Given the description of an element on the screen output the (x, y) to click on. 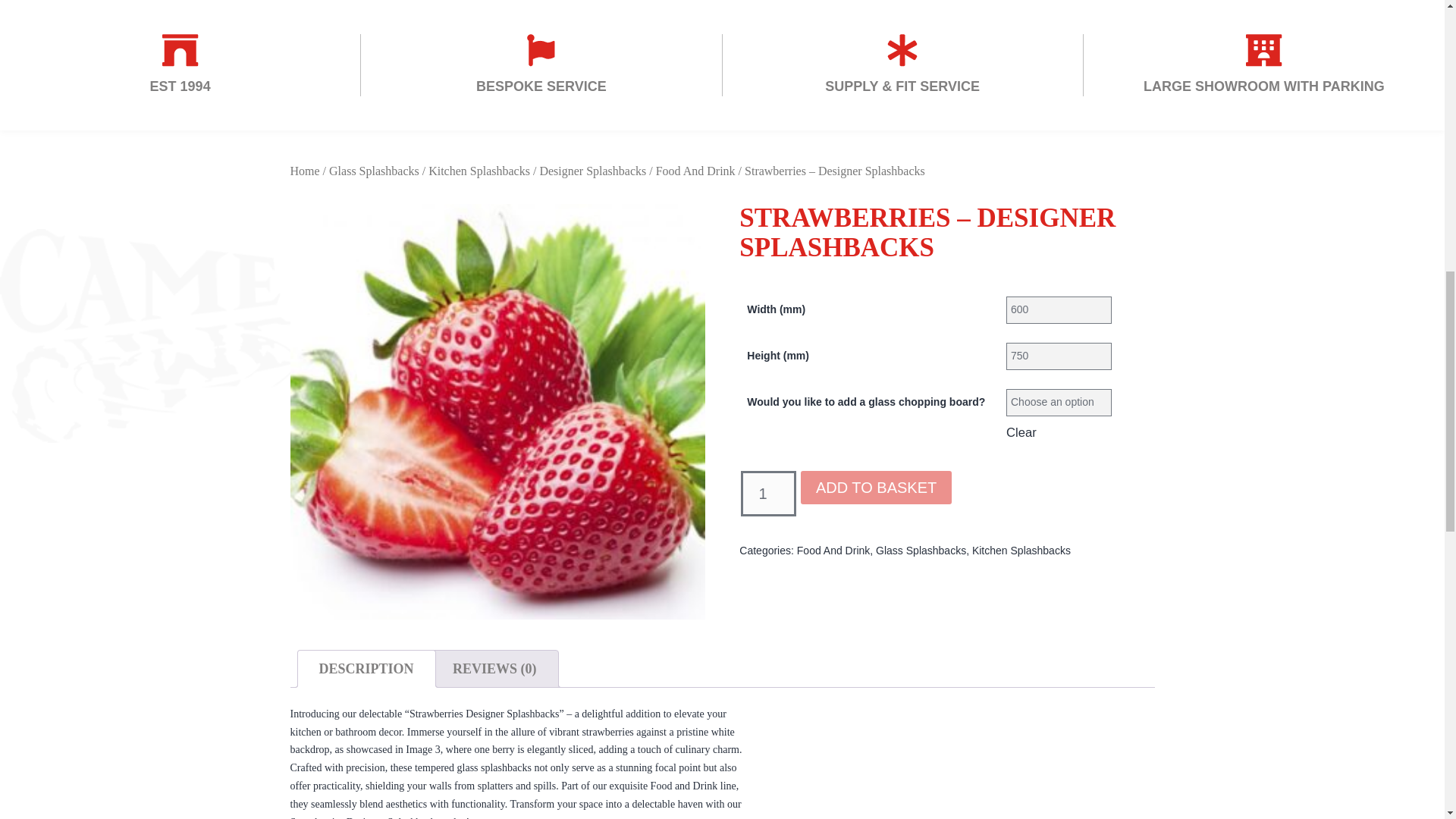
1 (768, 493)
Qty (768, 493)
PayPal Message 1 (946, 525)
